Given the description of an element on the screen output the (x, y) to click on. 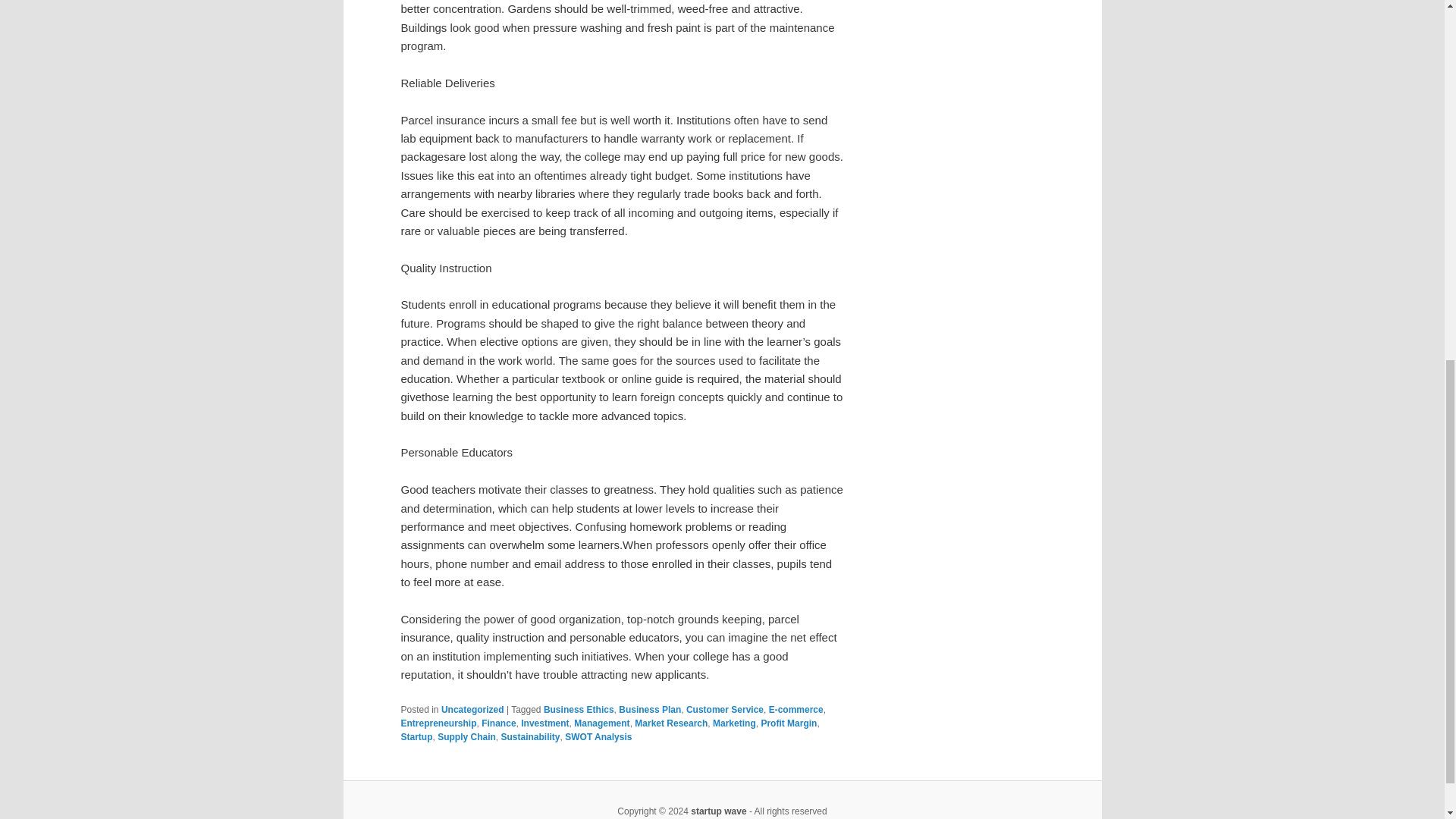
Business Ethics (578, 709)
Investment (545, 723)
Sustainability (530, 737)
Market Research (670, 723)
View all posts in Uncategorized (472, 709)
Management (600, 723)
Profit Margin (788, 723)
Customer Service (723, 709)
Entrepreneurship (438, 723)
E-commerce (796, 709)
